Given the description of an element on the screen output the (x, y) to click on. 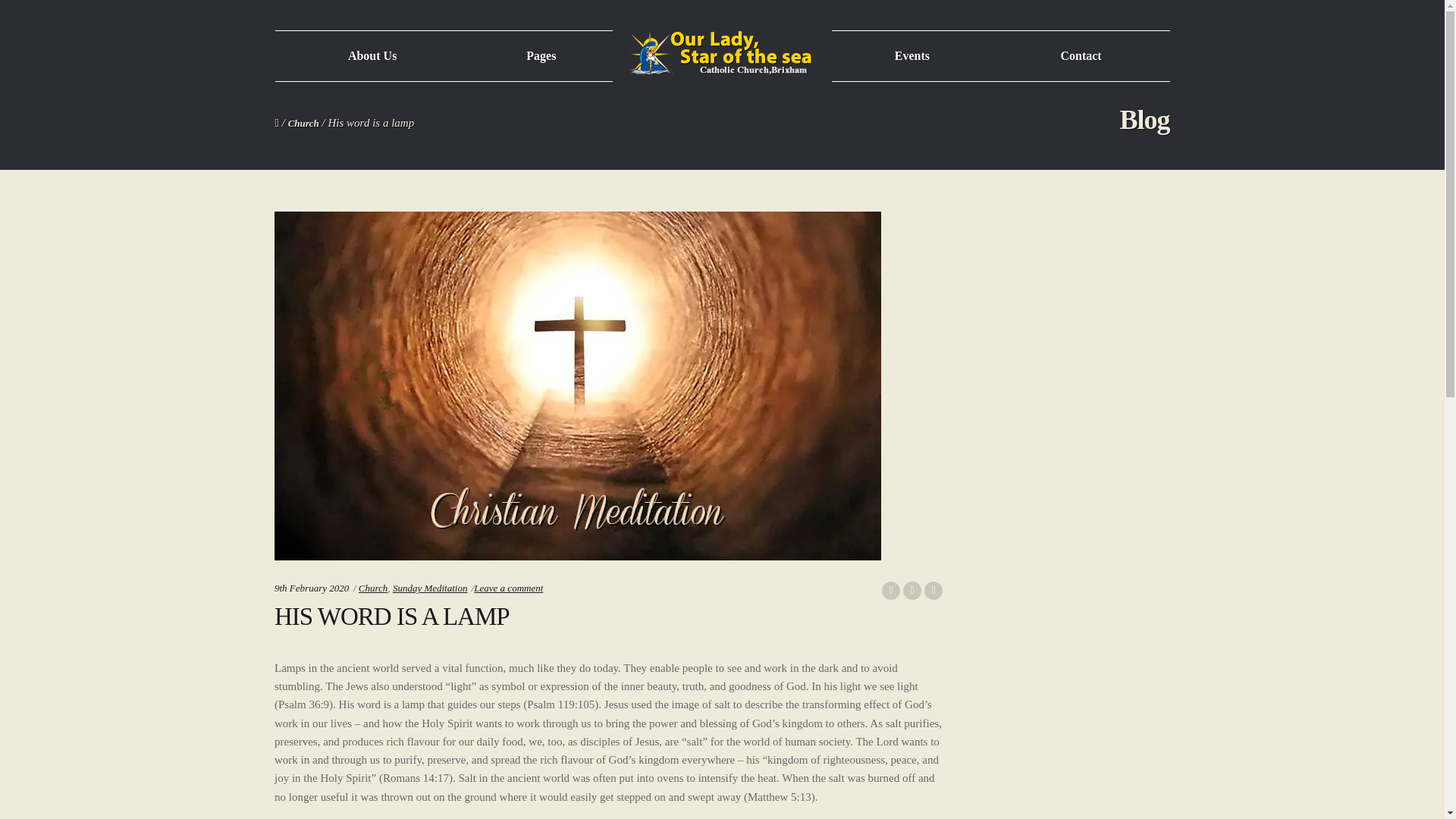
Church (303, 122)
Contact (1081, 56)
9th February 2020 (312, 587)
Events (911, 56)
Pages (541, 56)
Sunday Meditation (430, 587)
Leave a comment (508, 587)
Page 1 (608, 732)
Church (373, 587)
